Given the description of an element on the screen output the (x, y) to click on. 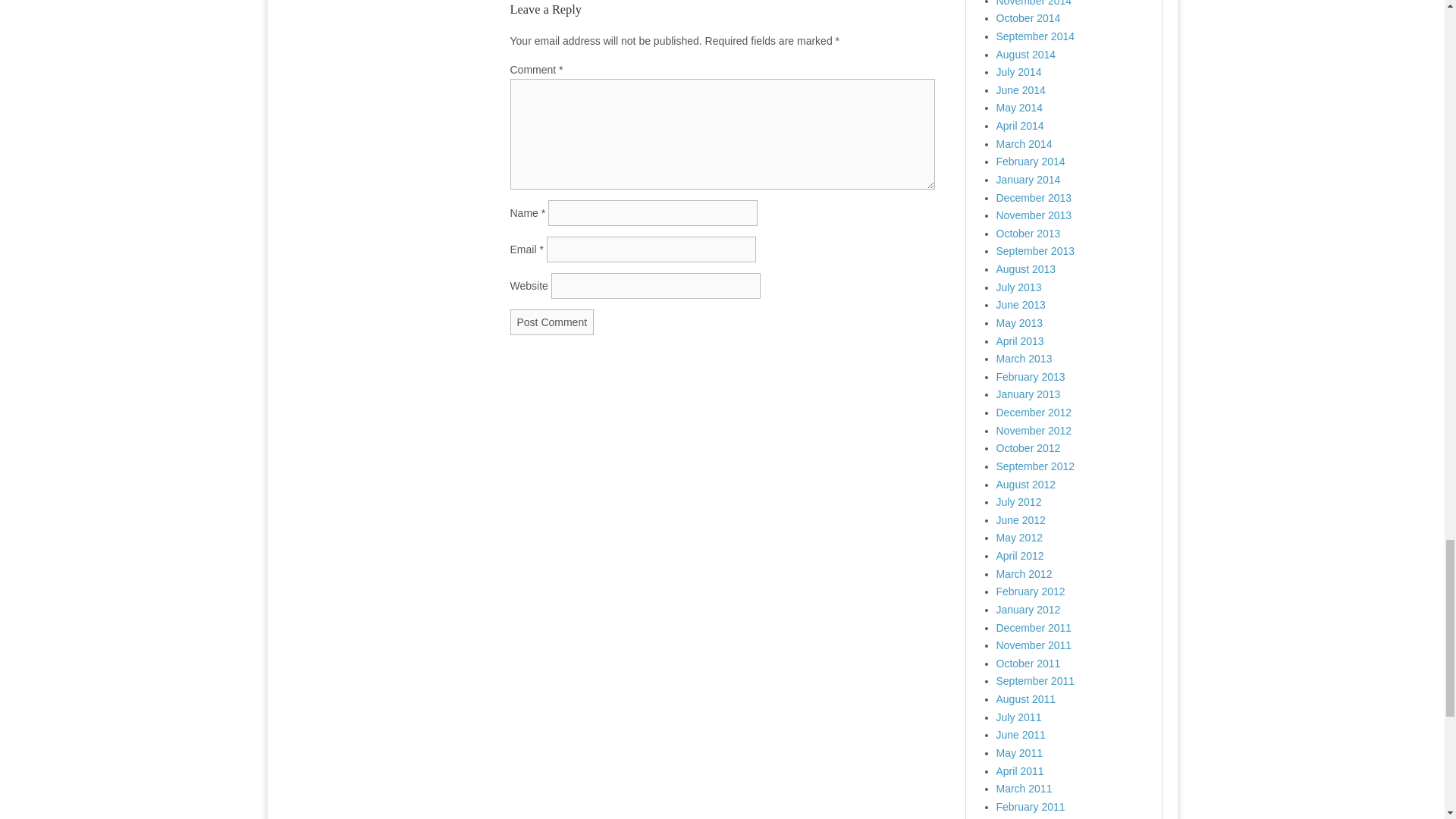
Post Comment (551, 321)
Post Comment (551, 321)
